Given the description of an element on the screen output the (x, y) to click on. 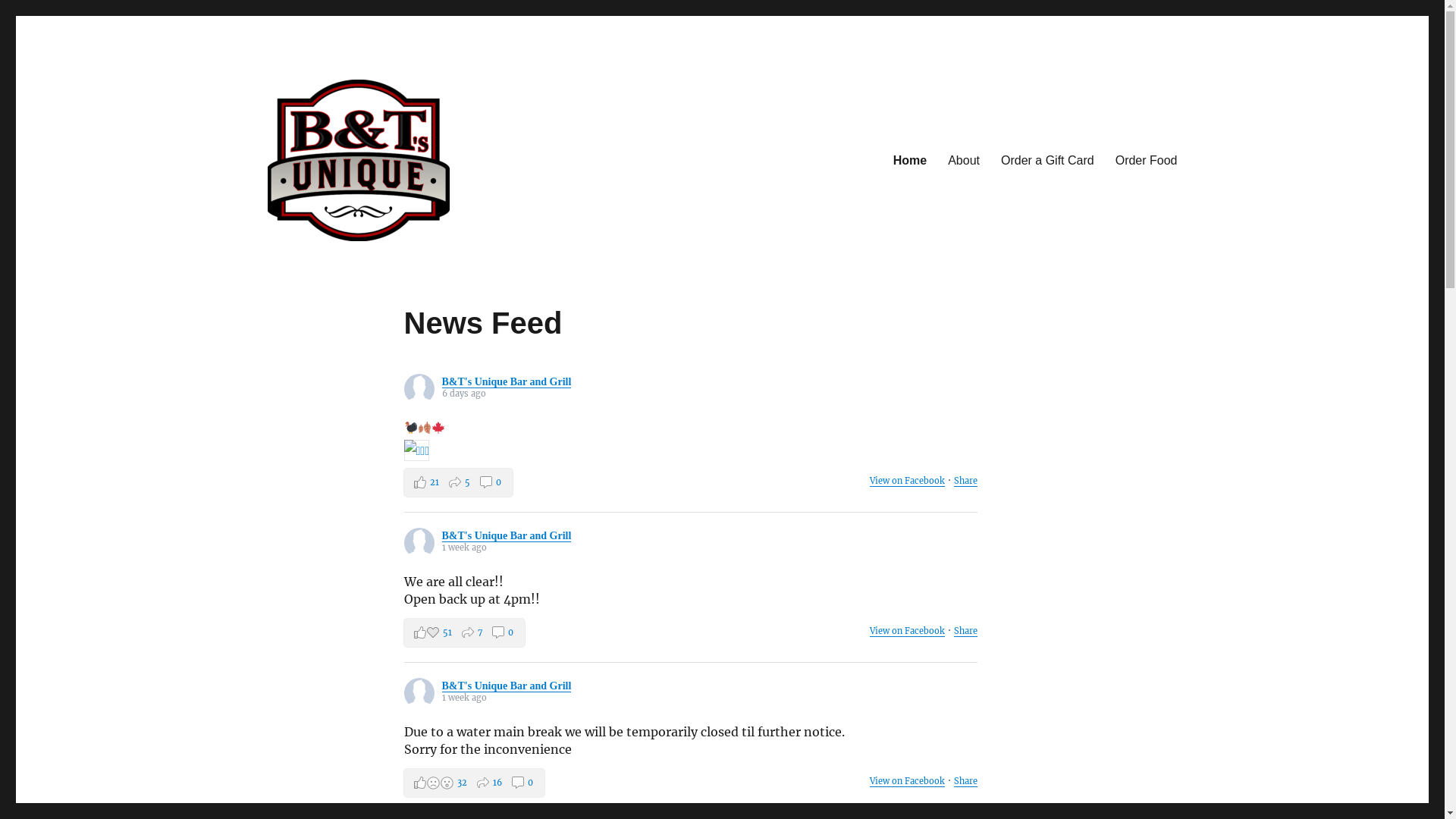
Share Element type: text (965, 480)
View on Facebook Element type: text (906, 780)
Likes:
51
Shares:
7
Comments:
0 Element type: text (463, 632)
About Element type: text (963, 159)
B&T's Unique Element type: text (335, 264)
B&T's Unique Bar and Grill Element type: text (506, 381)
B&T's Unique Bar and Grill Element type: text (506, 685)
B&T's Unique Bar and Grill Element type: text (506, 535)
Likes:
32
Shares:
16
Comments:
0 Element type: text (473, 782)
Likes:
21
Shares:
5
Comments:
0 Element type: text (457, 482)
Share Element type: text (965, 630)
Share Element type: text (965, 780)
View on Facebook Element type: text (906, 630)
View on Facebook Element type: text (906, 480)
Home Element type: text (909, 159)
Order Food Element type: text (1146, 159)
Order a Gift Card Element type: text (1047, 159)
